Given the description of an element on the screen output the (x, y) to click on. 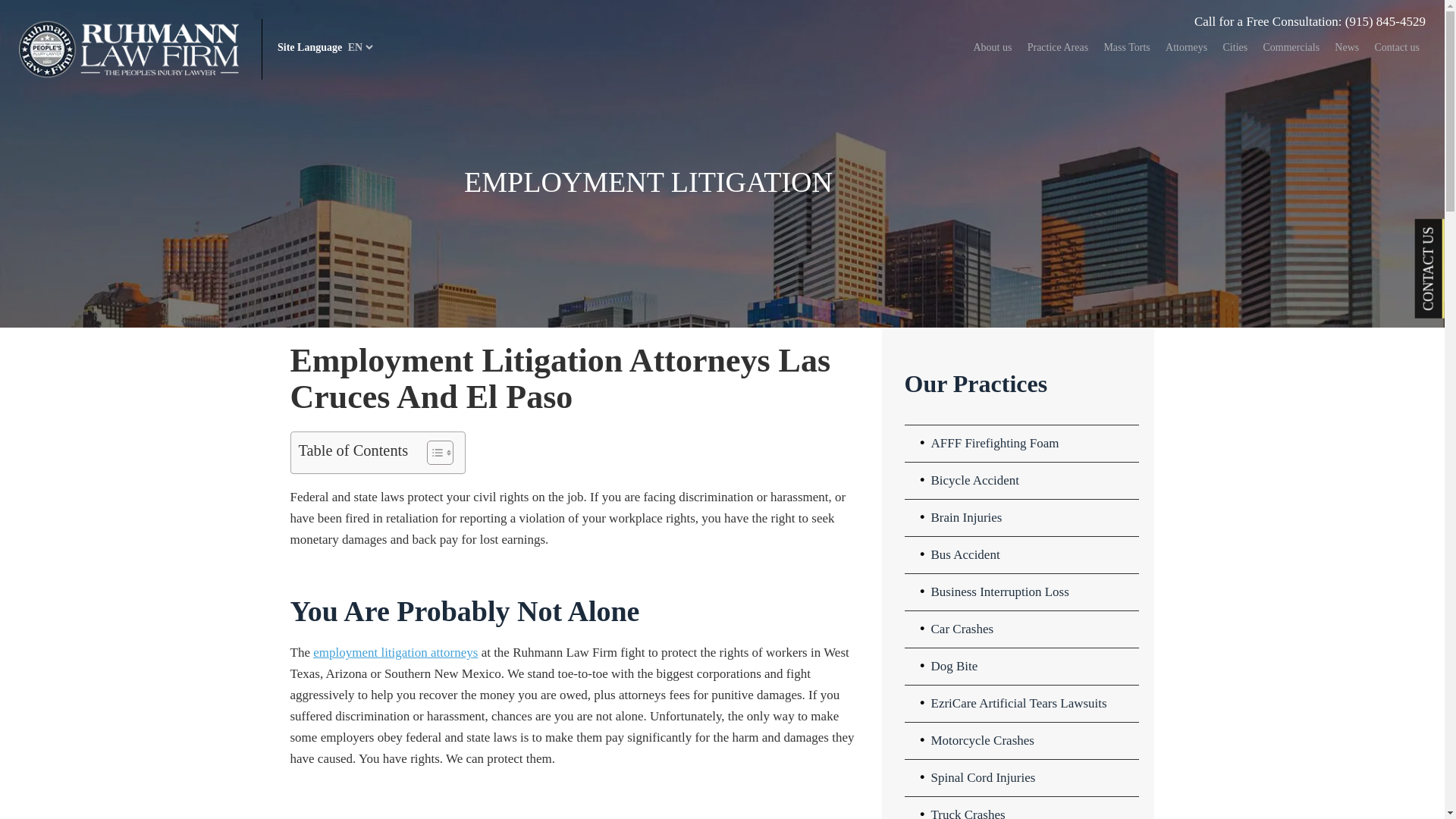
Employment Litigation Attorneys (395, 652)
About us (991, 47)
Practice Areas (1058, 47)
